Given the description of an element on the screen output the (x, y) to click on. 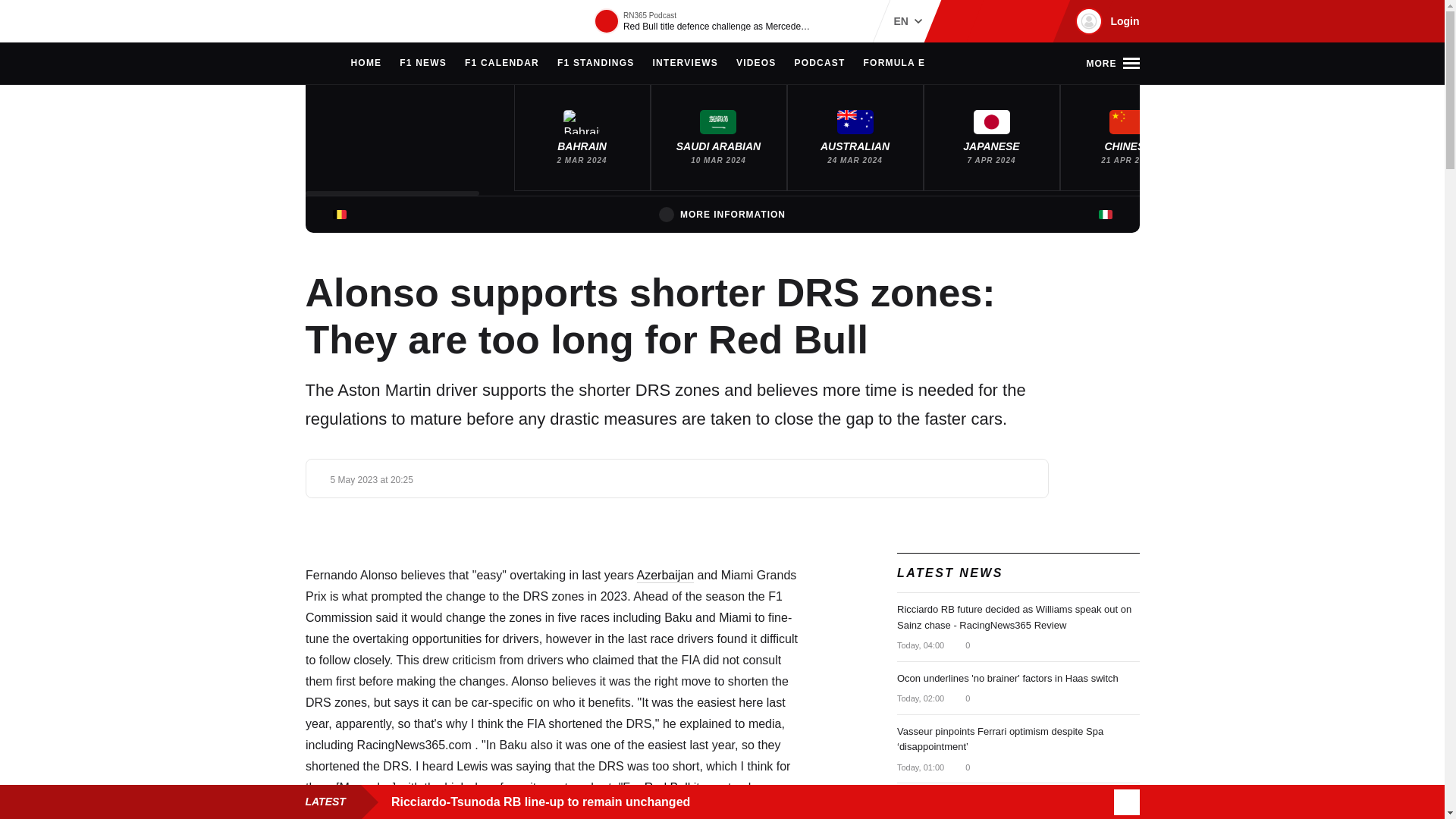
F1 NEWS (422, 63)
RacingNews365 on Instagram (962, 21)
MORE INFORMATION (722, 214)
RacingNews365 homepage (312, 63)
FORMULA E (894, 63)
F1 STANDINGS (595, 63)
HOME (365, 63)
RacingNews365 on YouTube (1034, 21)
VIDEOS (756, 63)
F1 CALENDAR (501, 63)
RacingNews365 (350, 21)
RacingNews365 on X (1010, 21)
RacingNews365 on Facebook (986, 21)
Login (1104, 21)
